Given the description of an element on the screen output the (x, y) to click on. 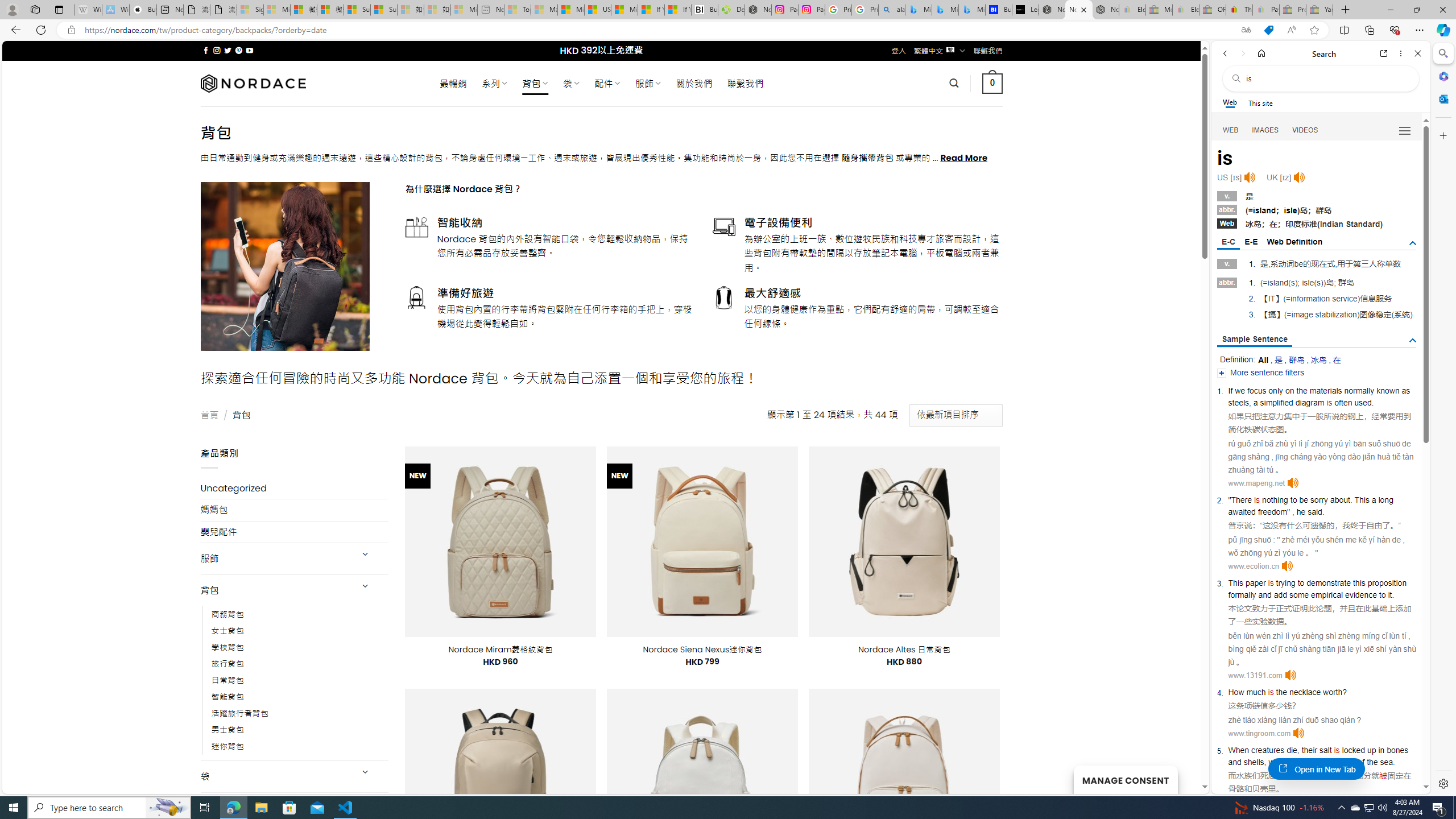
on (1289, 390)
used (1362, 402)
paper (1255, 582)
? (1344, 691)
WEB (1231, 130)
Follow on Pinterest (237, 50)
